Given the description of an element on the screen output the (x, y) to click on. 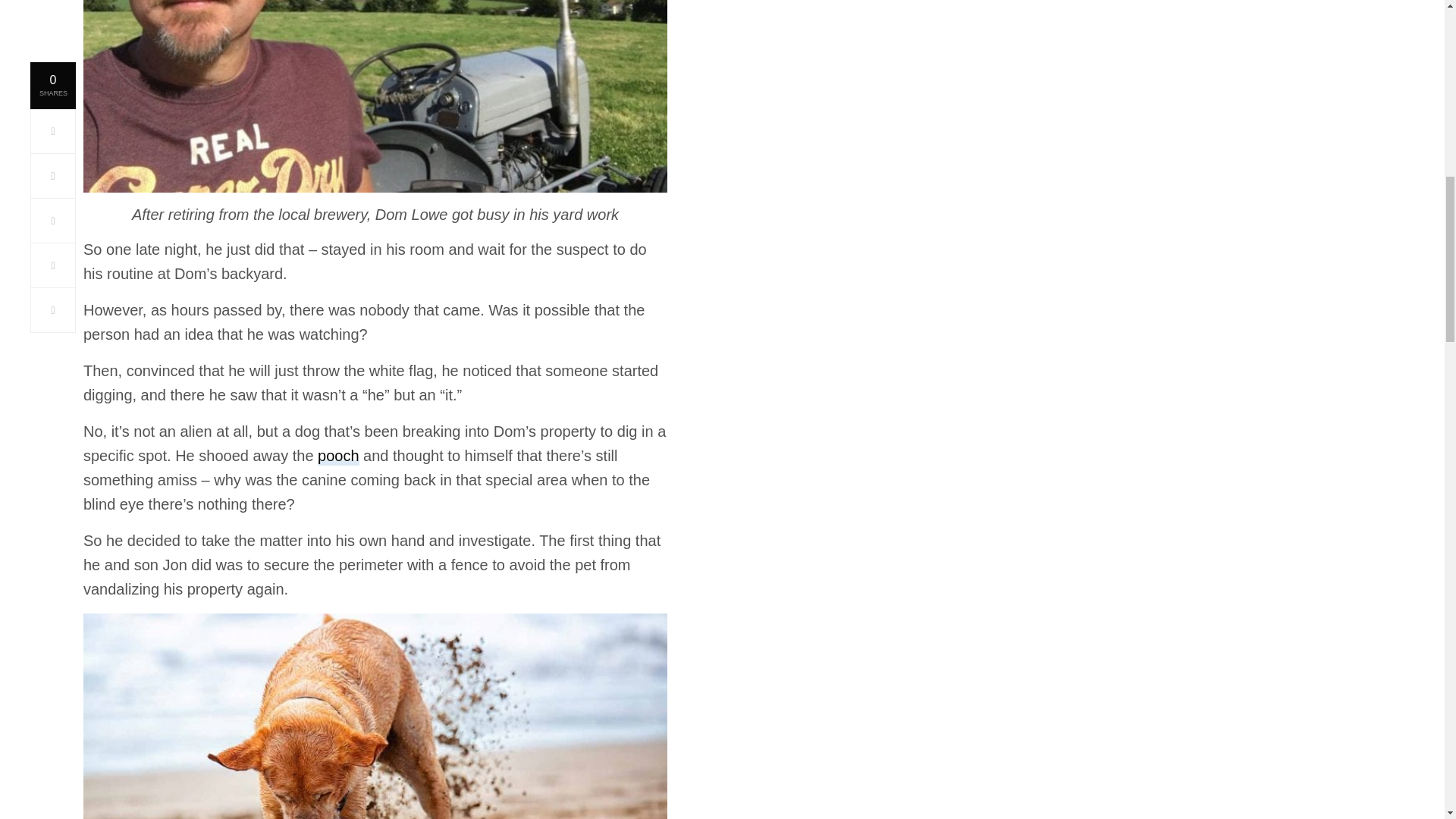
pooch (338, 456)
